Given the description of an element on the screen output the (x, y) to click on. 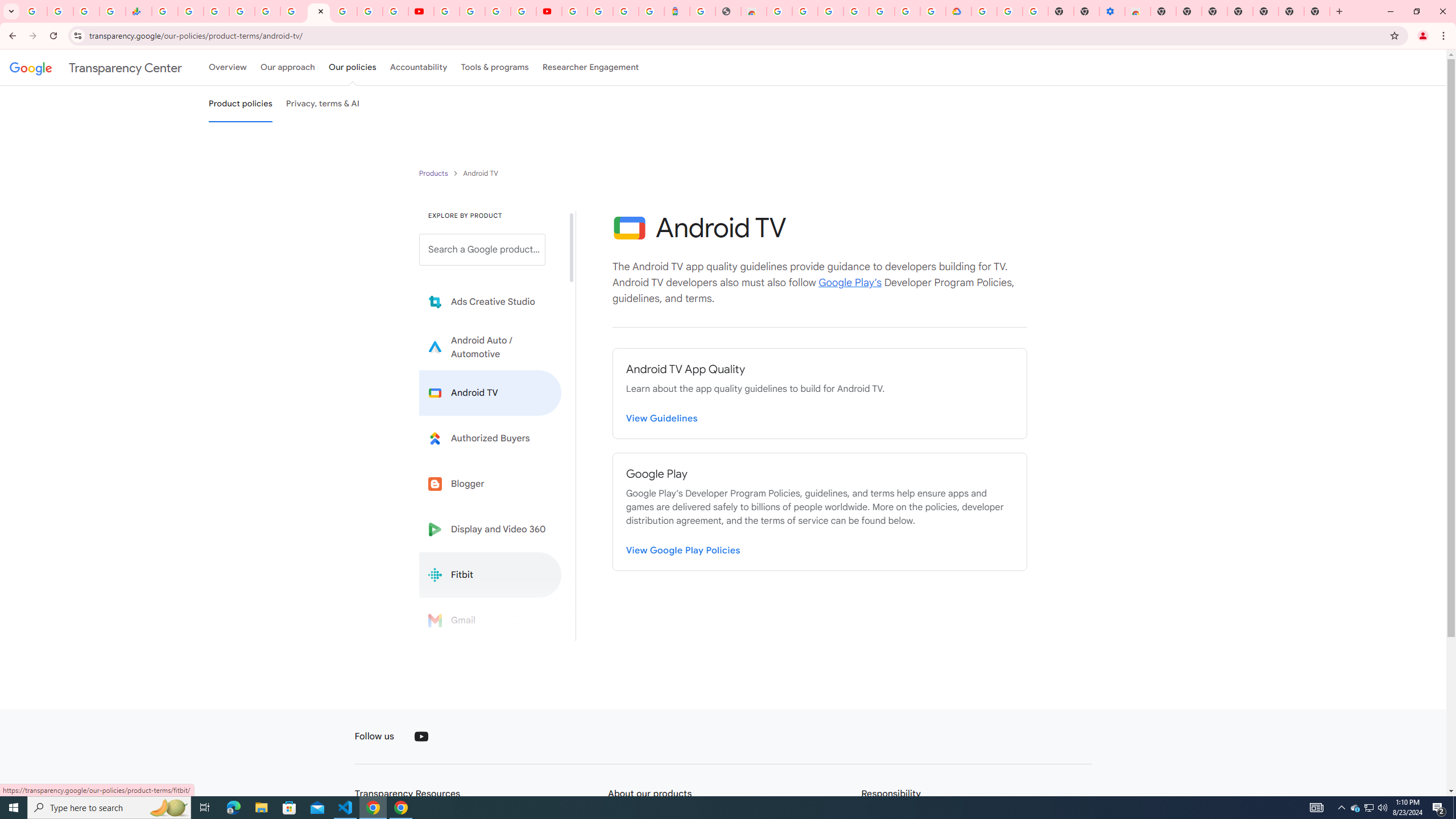
Sign in - Google Accounts (983, 11)
Our policies (351, 67)
Learn more about Authorized Buyers (490, 438)
Chrome Web Store - Household (753, 11)
Sign in - Google Accounts (907, 11)
YouTube (446, 11)
Learn more about Ads Creative Studio (490, 302)
Ad Settings (804, 11)
